Given the description of an element on the screen output the (x, y) to click on. 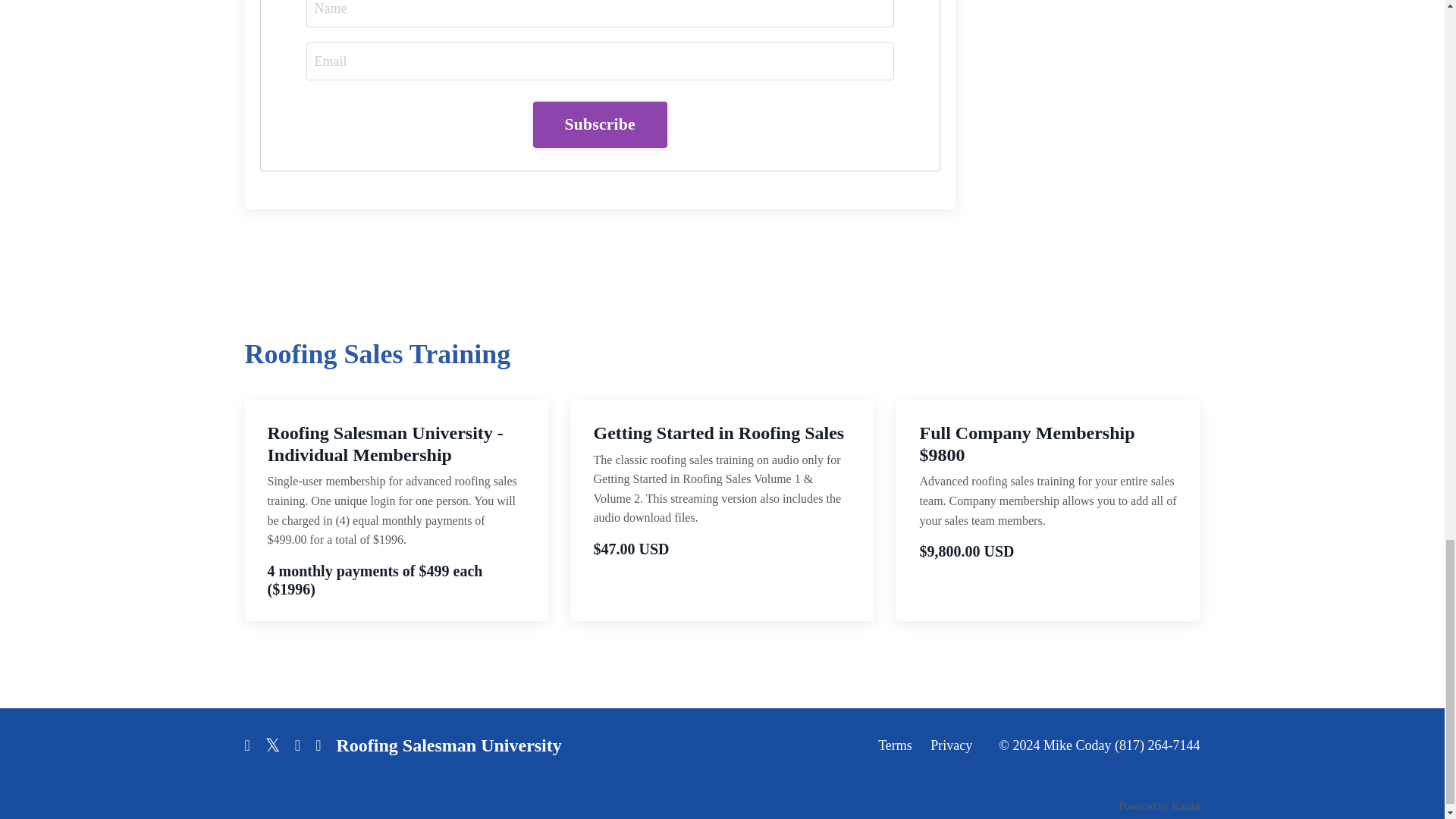
Terms (894, 744)
Roofing Salesman University (448, 745)
Subscribe (599, 124)
Powered by Kajabi (1158, 806)
Privacy (951, 744)
Subscribe (599, 124)
